Given the description of an element on the screen output the (x, y) to click on. 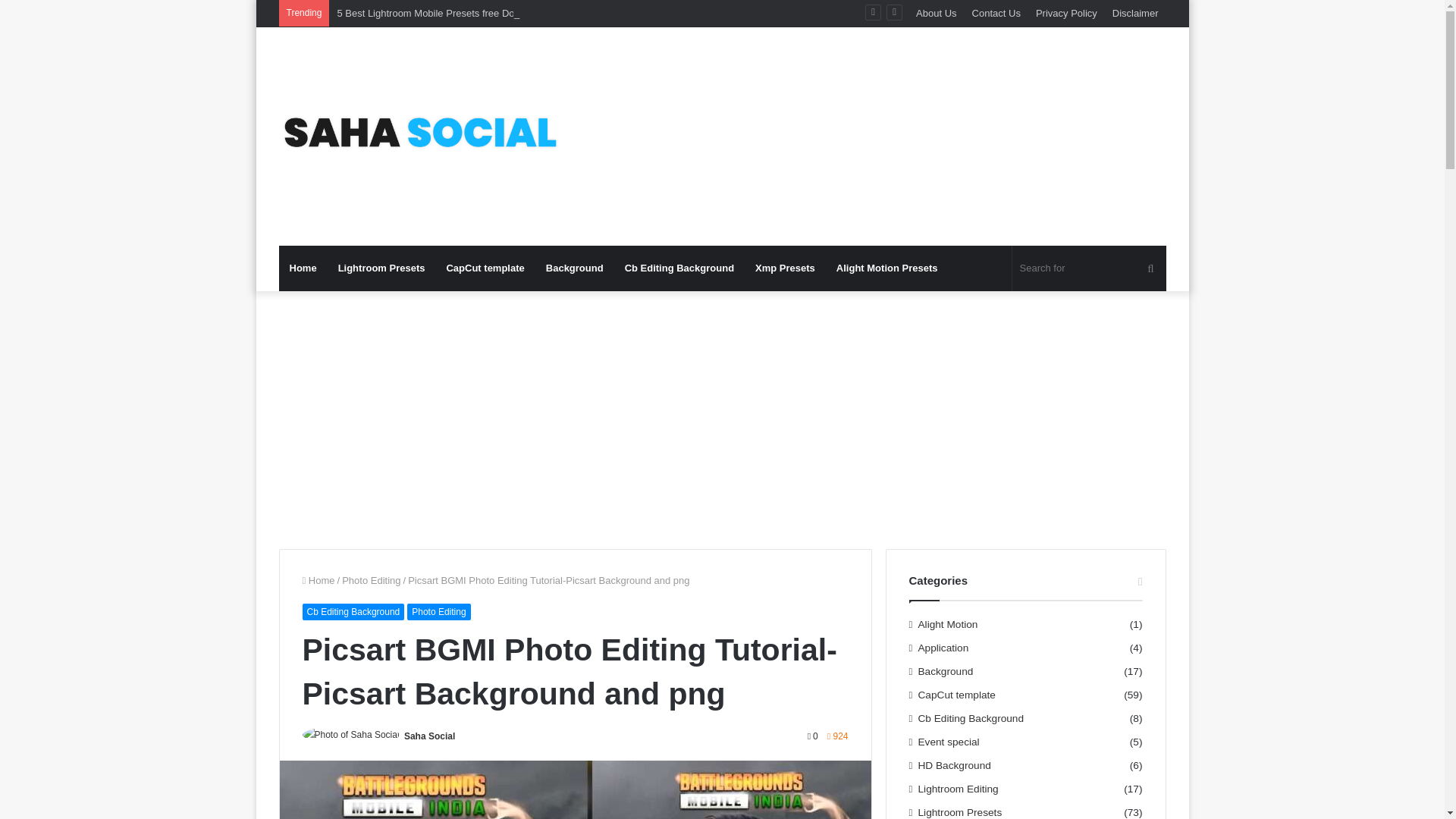
Home (317, 580)
Cb Editing Background (679, 268)
Privacy Policy (1066, 13)
Xmp Presets (784, 268)
About Us (935, 13)
Saha Social (429, 736)
Search for (1088, 268)
Background (574, 268)
Lightroom Presets (381, 268)
CapCut template (484, 268)
Contact Us (995, 13)
Saha Social (429, 736)
Saha Social (419, 136)
Disclaimer (1135, 13)
